Given the description of an element on the screen output the (x, y) to click on. 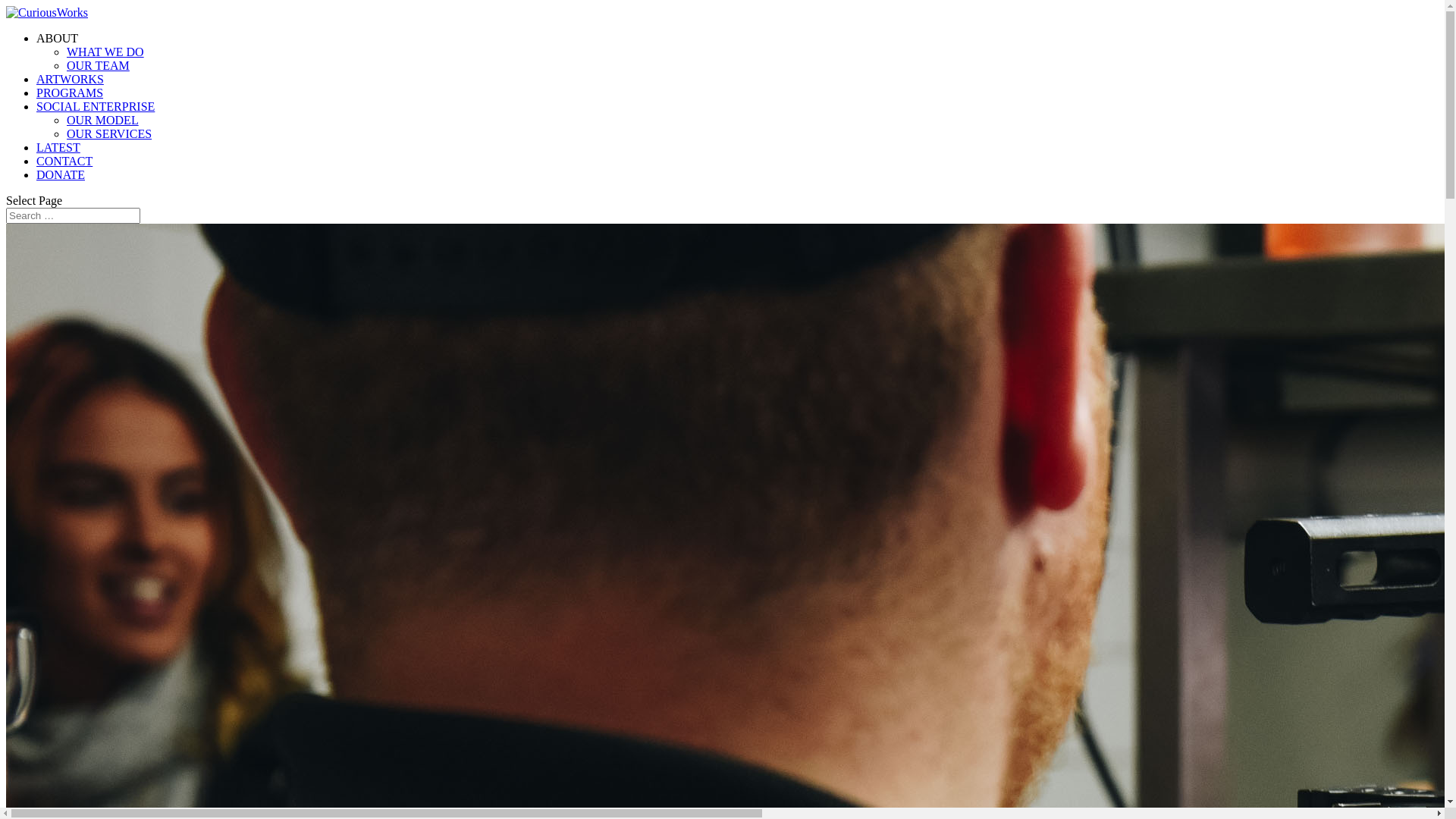
OUR SERVICES Element type: text (108, 133)
SOCIAL ENTERPRISE Element type: text (95, 106)
ARTWORKS Element type: text (69, 78)
DONATE Element type: text (60, 174)
OUR TEAM Element type: text (97, 65)
CONTACT Element type: text (64, 160)
ABOUT Element type: text (57, 37)
LATEST Element type: text (58, 147)
PROGRAMS Element type: text (69, 92)
OUR MODEL Element type: text (102, 119)
Search for: Element type: hover (73, 215)
WHAT WE DO Element type: text (105, 51)
